Given the description of an element on the screen output the (x, y) to click on. 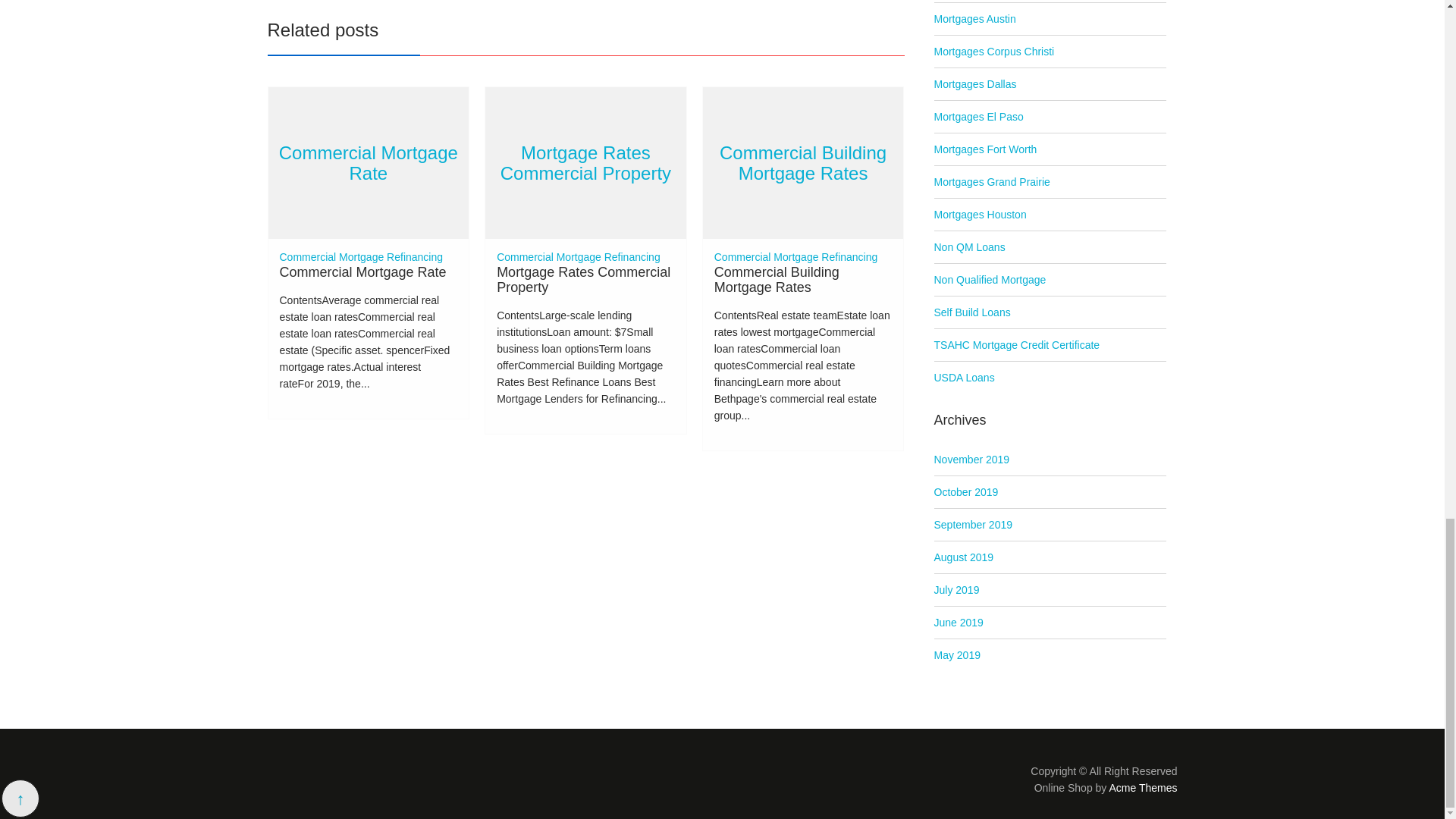
Commercial Mortgage Rate (362, 272)
Commercial Mortgage Refinancing (578, 256)
Mortgage Rates Commercial Property (582, 279)
Mortgage Rates Commercial Property (585, 162)
Commercial Mortgage Refinancing (360, 256)
Commercial Mortgage Rate (368, 162)
